Given the description of an element on the screen output the (x, y) to click on. 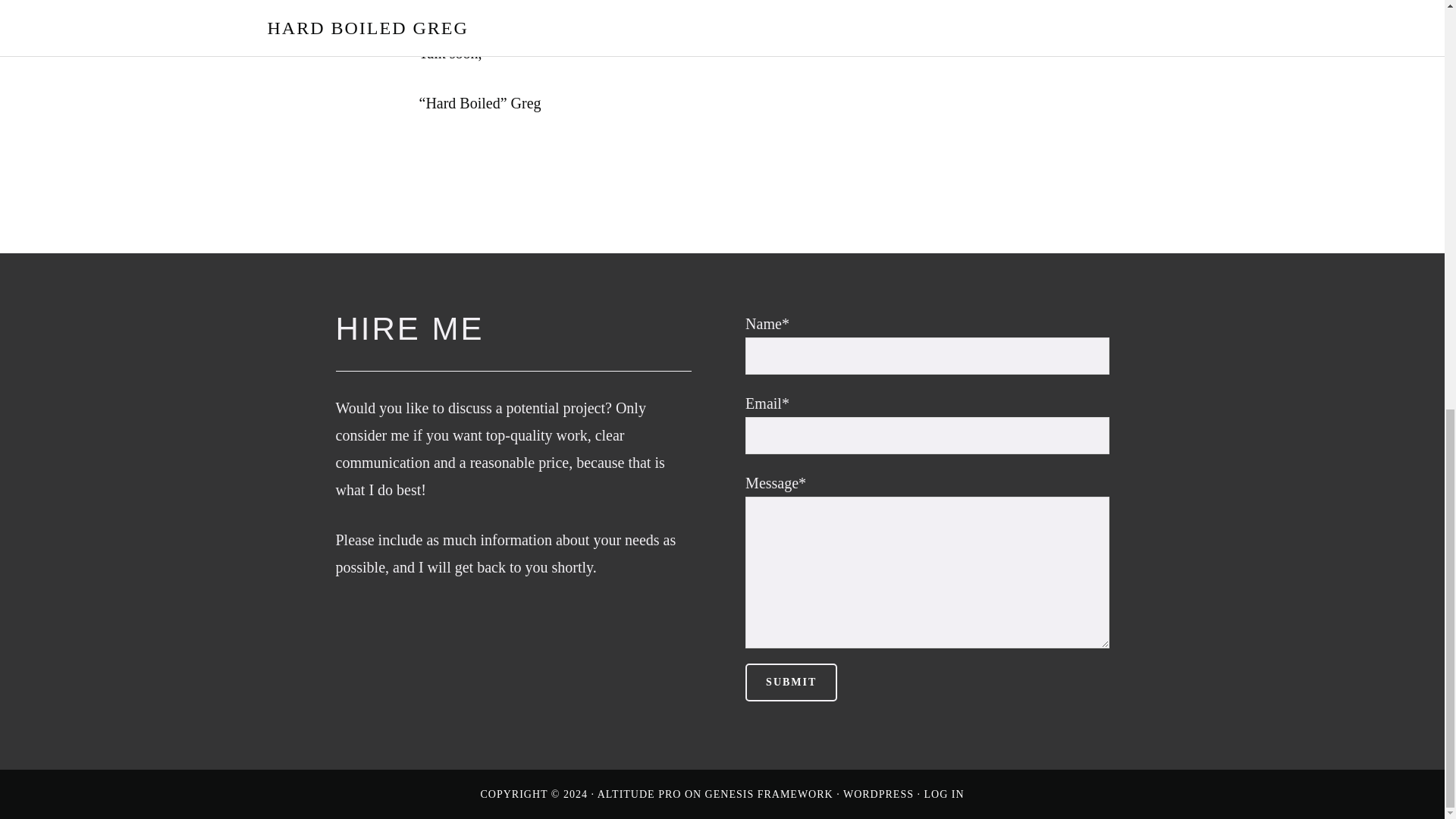
Submit (791, 682)
LOG IN (943, 794)
WORDPRESS (878, 794)
Submit (791, 682)
ALTITUDE PRO (638, 794)
GENESIS FRAMEWORK (768, 794)
